Given the description of an element on the screen output the (x, y) to click on. 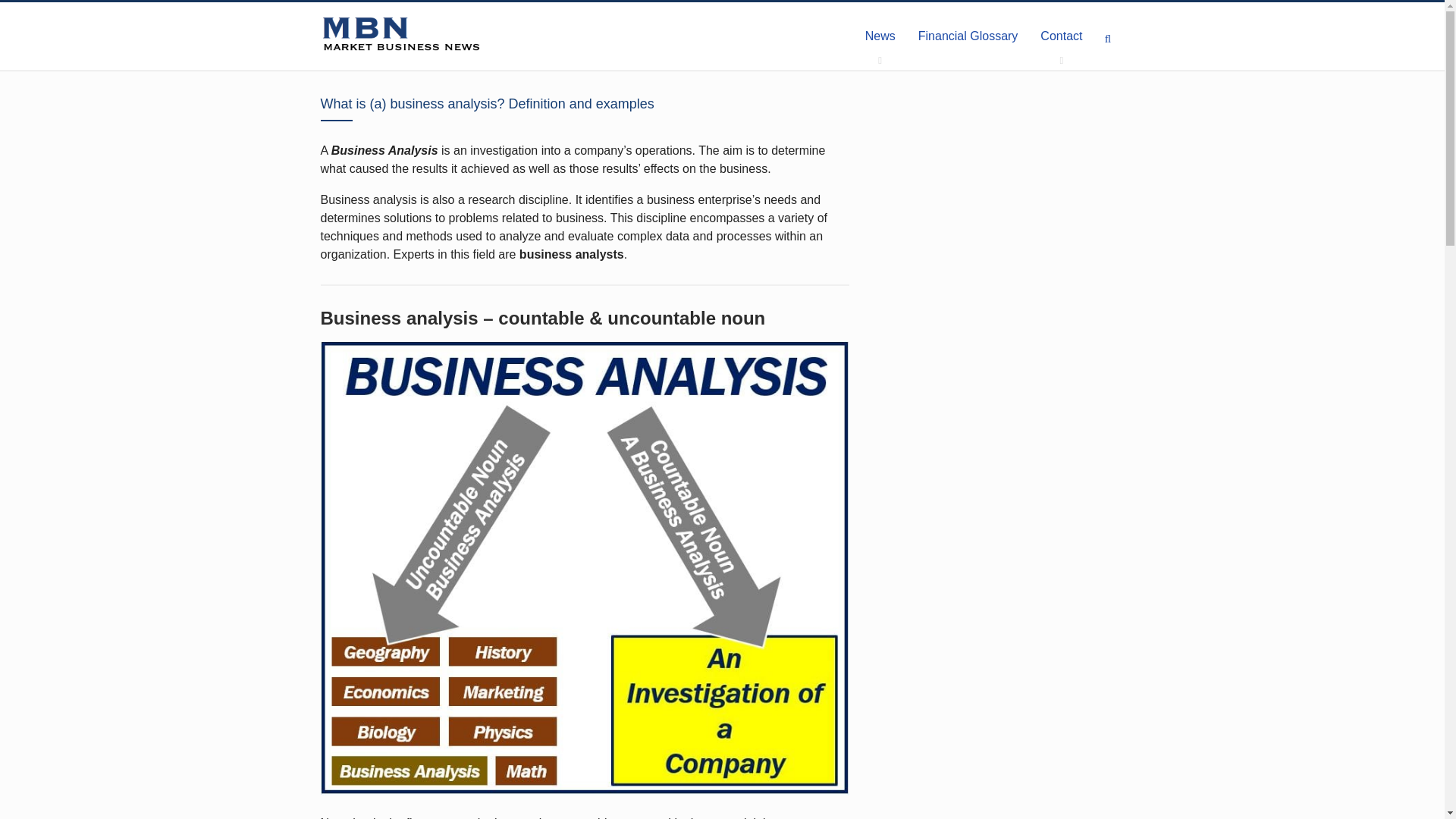
Contact (1061, 36)
Financial Glossary (968, 36)
